Given the description of an element on the screen output the (x, y) to click on. 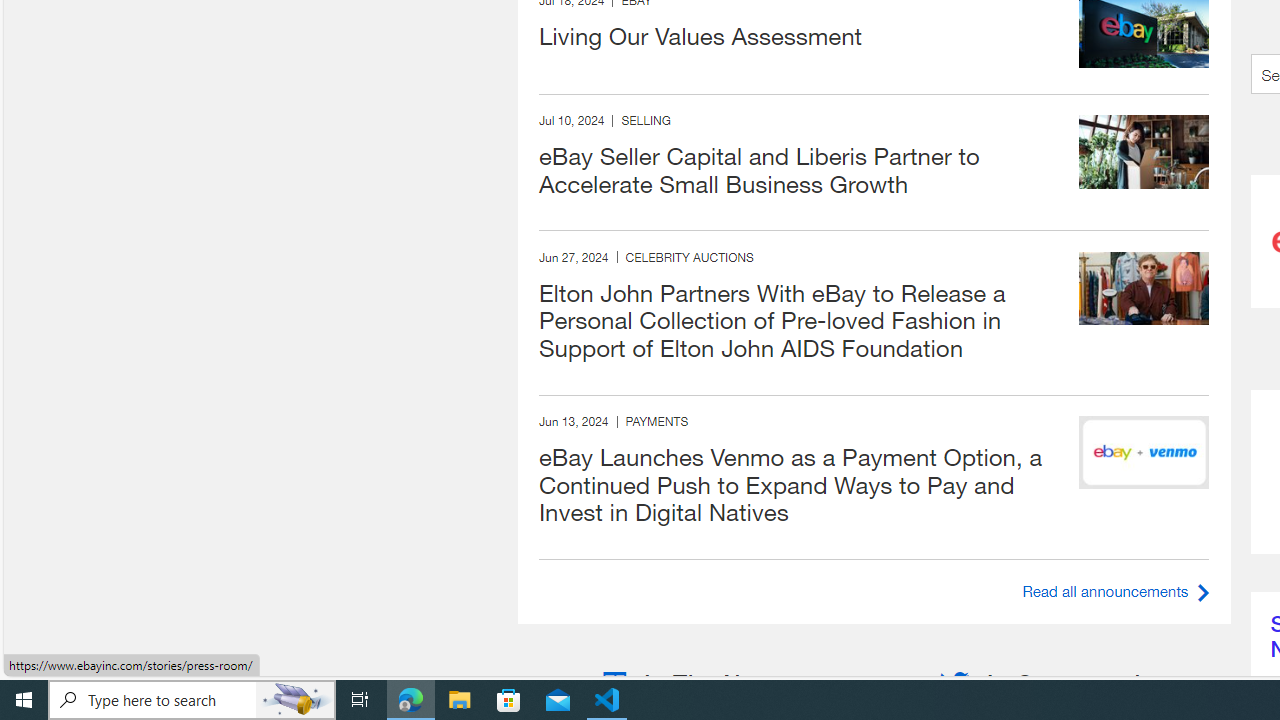
1365520856 (1144, 150)
969302575 (1144, 288)
240612 eBay inc hero (1144, 452)
